Given the description of an element on the screen output the (x, y) to click on. 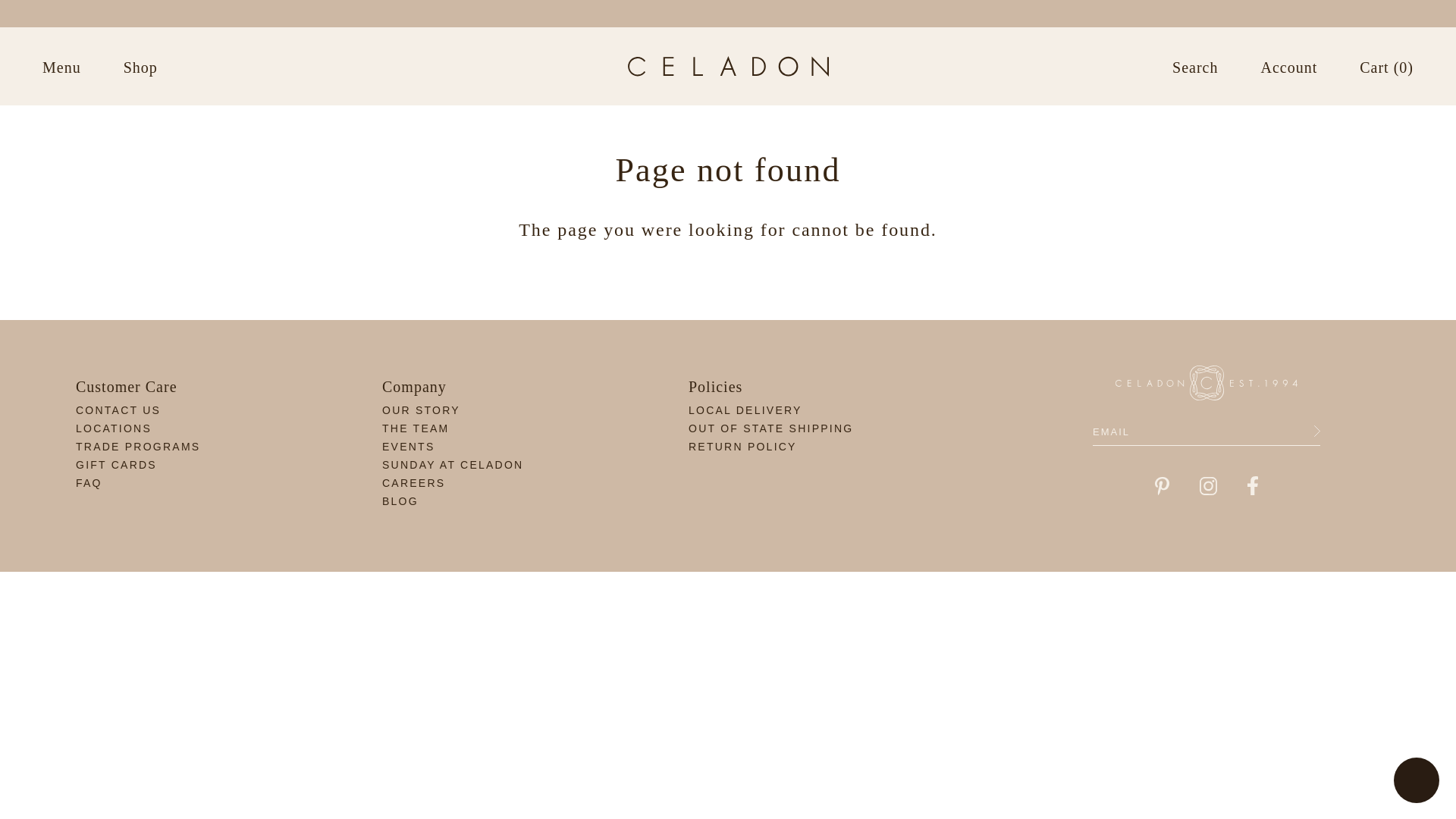
TRADE PROGRAMS (137, 446)
Menu (61, 67)
Account (1288, 67)
GIFT CARDS (116, 464)
CONTACT US (117, 410)
LOCATIONS (113, 428)
Shop (140, 67)
